Given the description of an element on the screen output the (x, y) to click on. 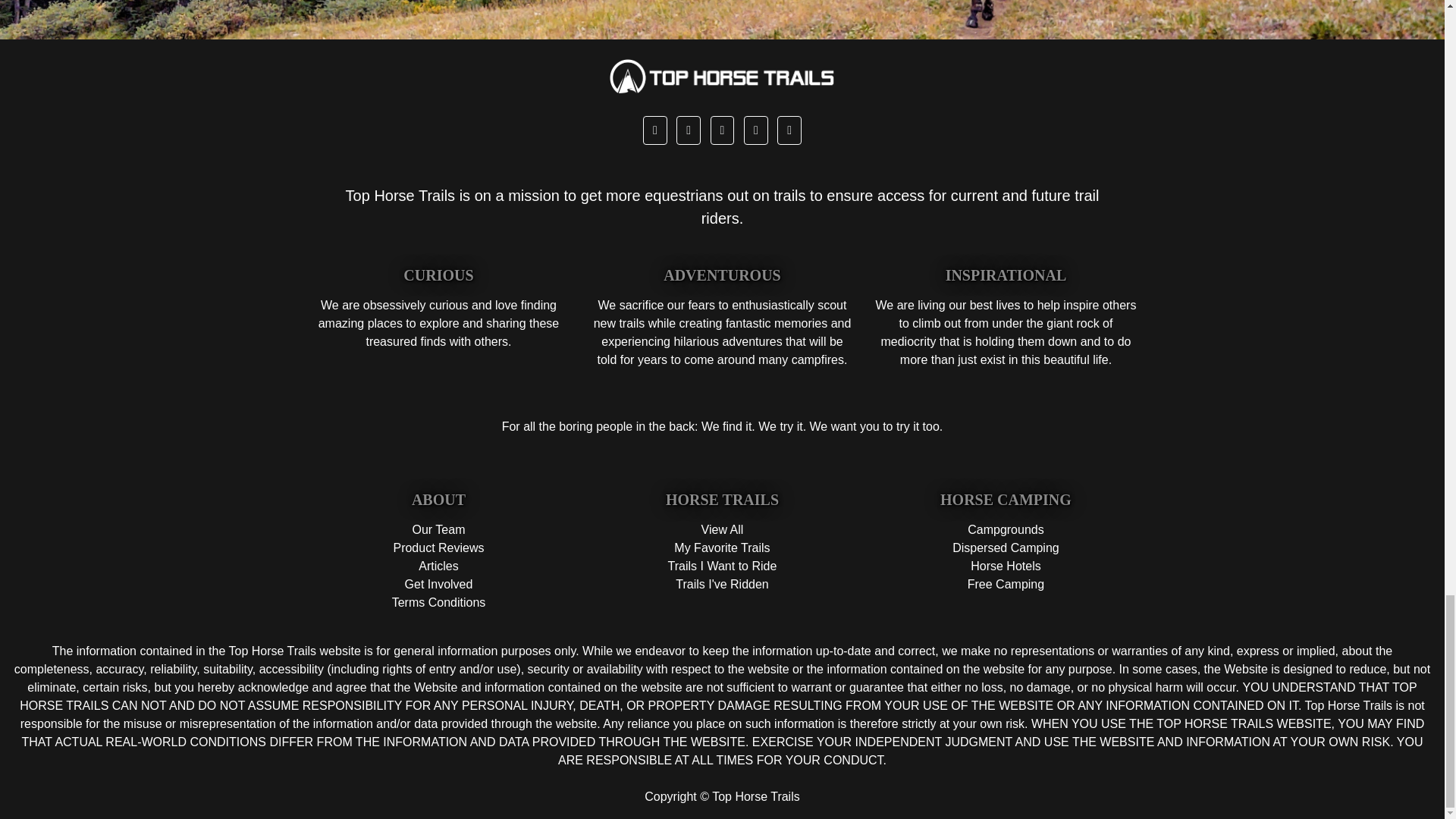
My Favorite Trails (722, 547)
Trails I've Ridden (721, 584)
Our Team (438, 529)
Dispersed Camping (1005, 547)
Articles (438, 565)
Horse Trails (721, 76)
Get Involved (438, 584)
Trails I Want to Ride (722, 565)
Terms Conditions (438, 602)
View All (722, 529)
